Given the description of an element on the screen output the (x, y) to click on. 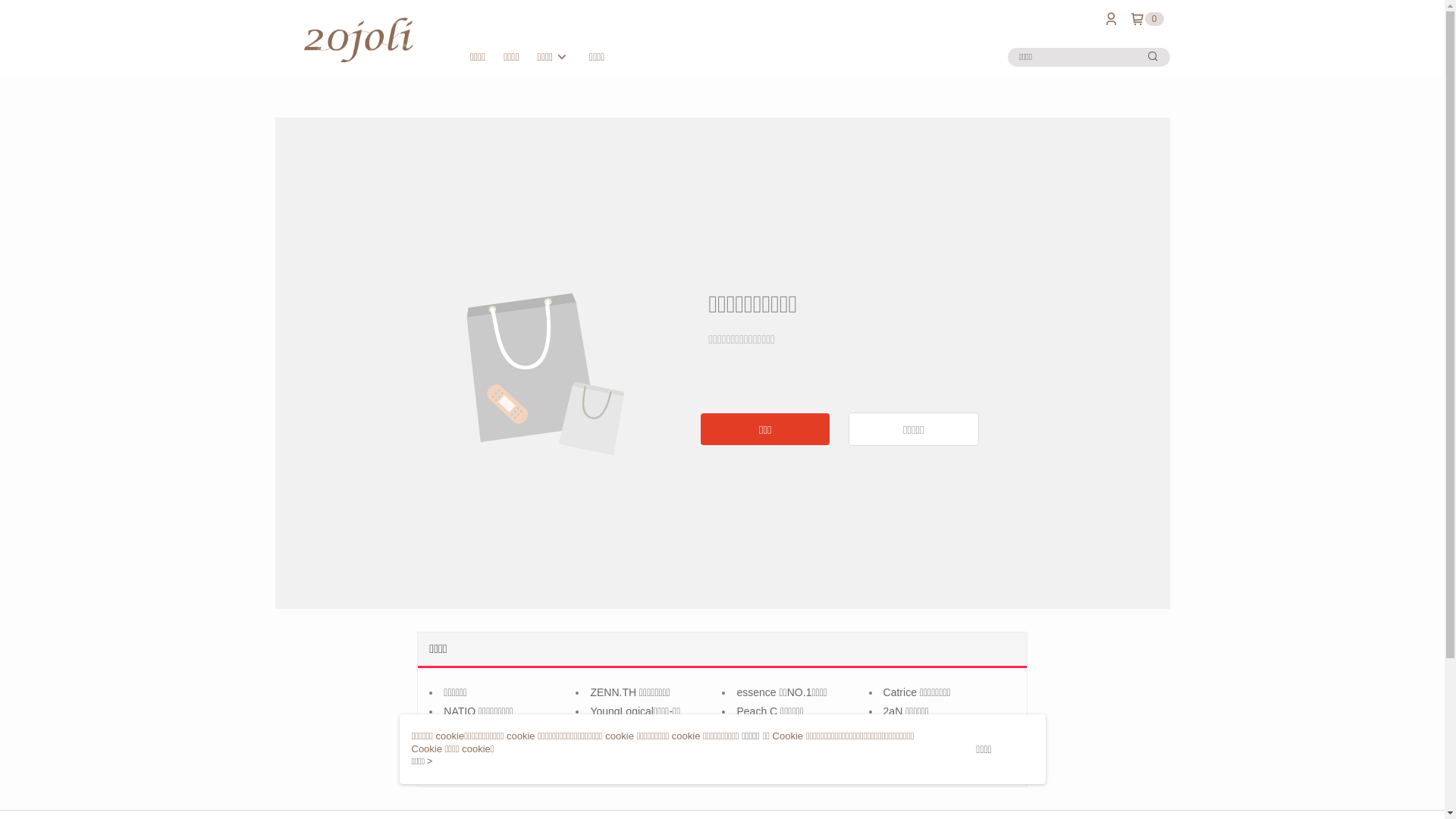
0 Element type: text (1146, 18)
20 Joli Element type: hover (358, 39)
